Given the description of an element on the screen output the (x, y) to click on. 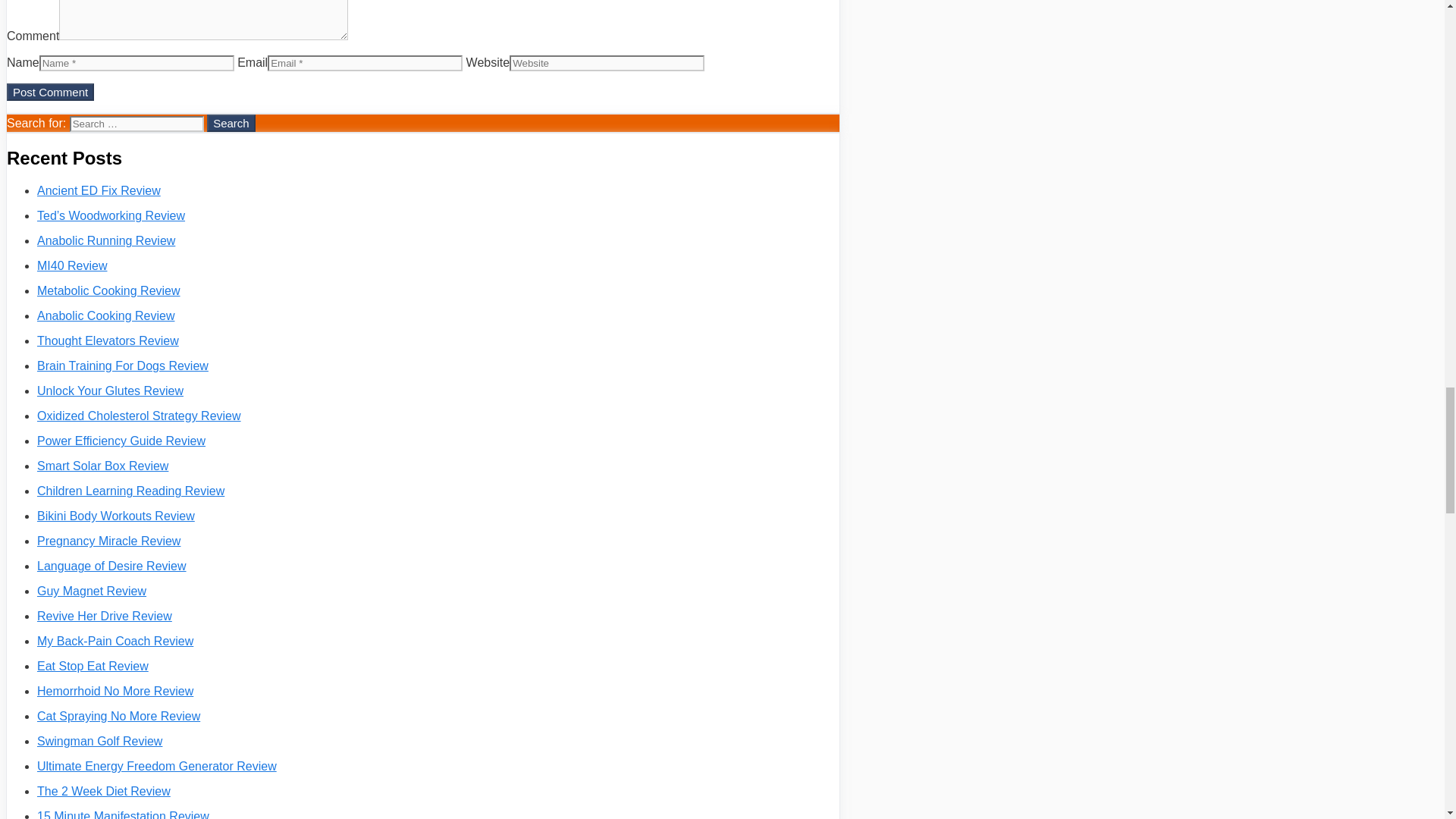
Brain Training For Dogs Review (122, 365)
Search (231, 122)
Search (231, 122)
Post Comment (50, 91)
MI40 Review (71, 265)
Search for: (136, 123)
Anabolic Running Review (105, 240)
Thought Elevators Review (108, 340)
Metabolic Cooking Review (108, 290)
Post Comment (50, 91)
Anabolic Cooking Review (105, 315)
Search (231, 122)
Ancient ED Fix Review (98, 190)
